Given the description of an element on the screen output the (x, y) to click on. 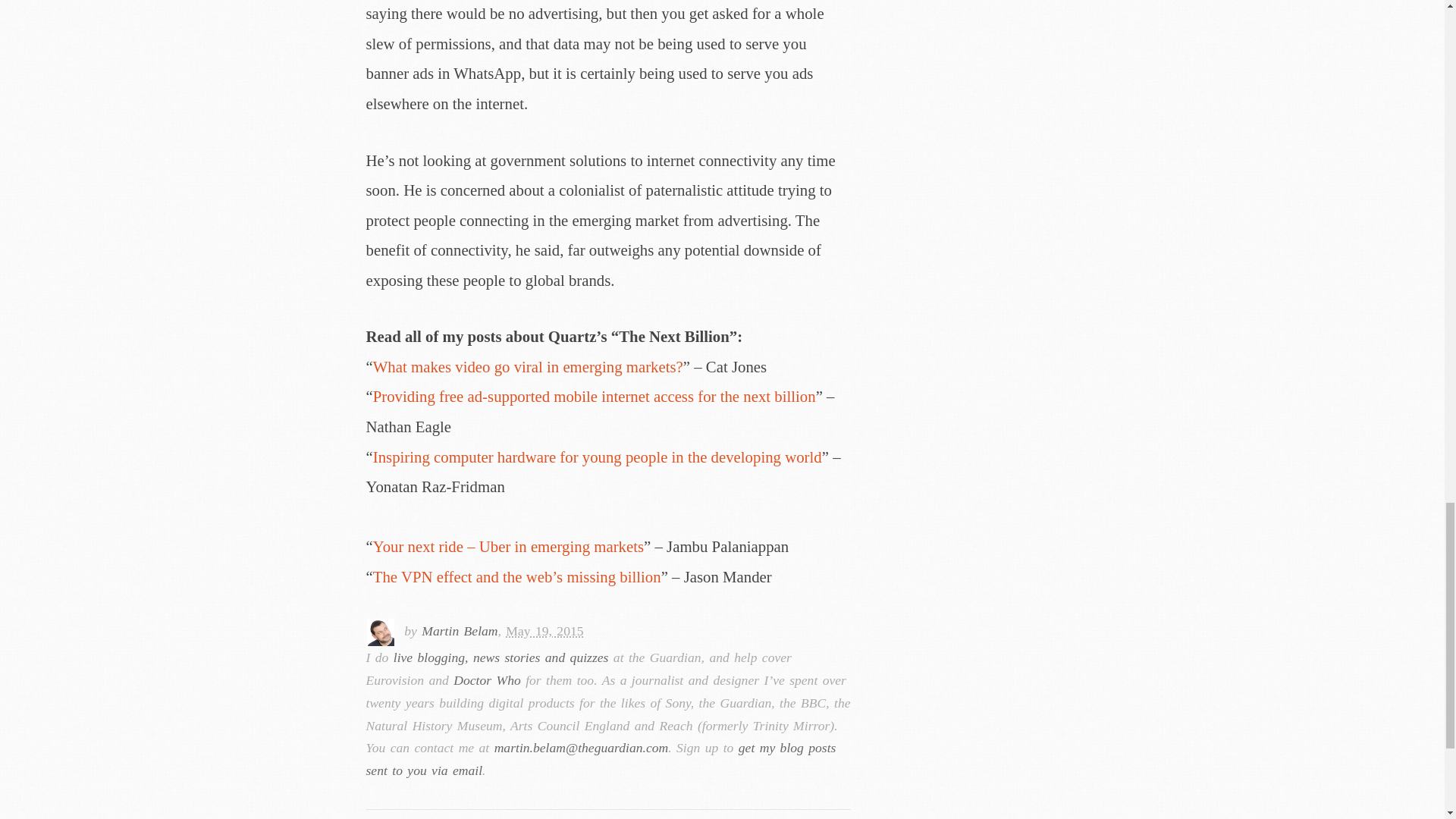
What makes video go viral in emerging markets? (527, 366)
Doctor Who (486, 679)
live blogging, news stories and quizzes (500, 657)
get my blog posts sent to you via email (600, 759)
Martin Belam (459, 630)
Tuesday, May 19th, 2015, 10:21 am (544, 630)
